Given the description of an element on the screen output the (x, y) to click on. 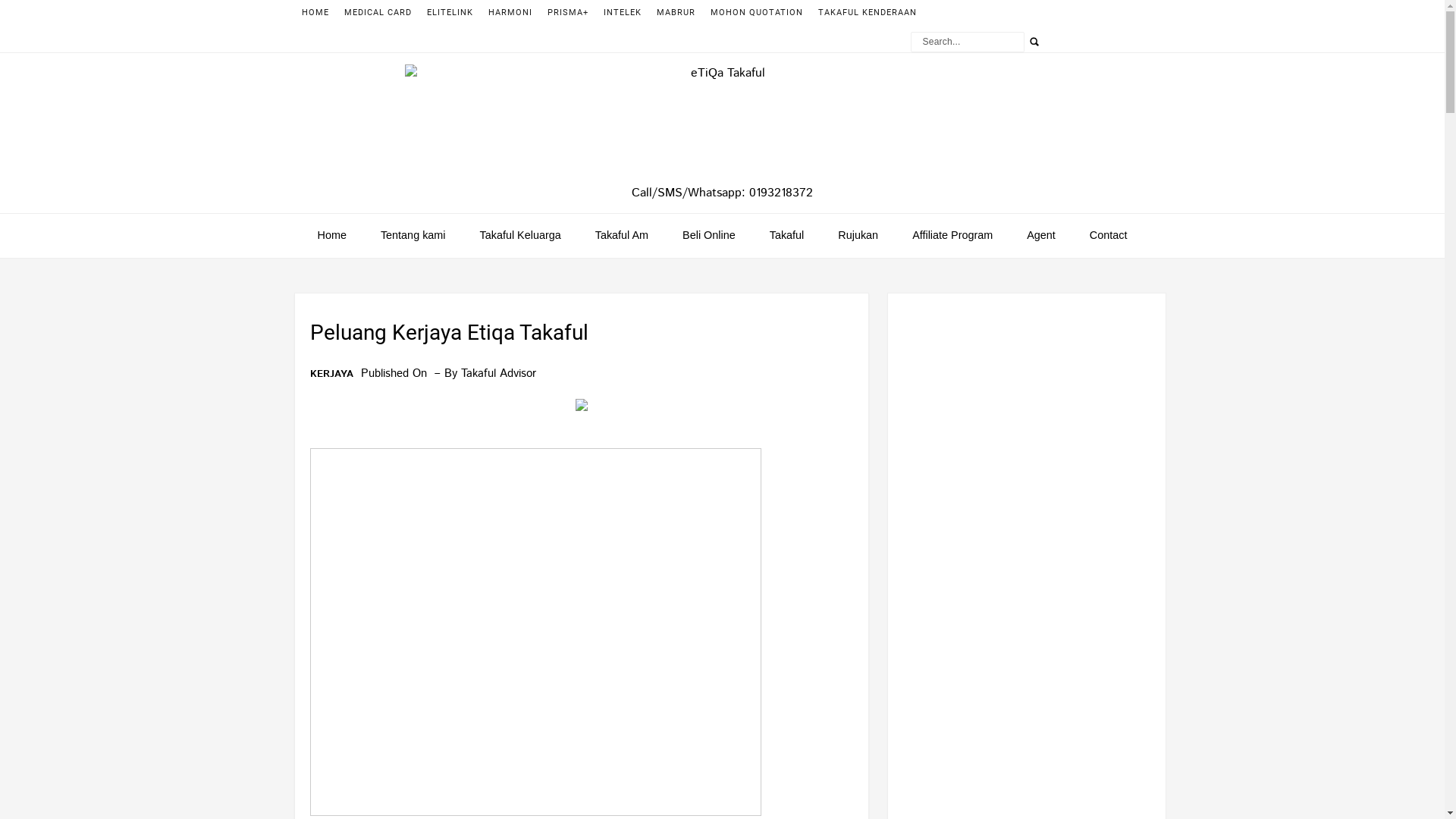
MOHON QUOTATION Element type: text (755, 12)
Contact Element type: text (1108, 234)
HOME Element type: text (315, 12)
Home Element type: text (331, 234)
KERJAYA Element type: text (330, 374)
Rujukan Element type: text (857, 234)
TAKAFUL KENDERAAN Element type: text (866, 12)
Takaful Am Element type: text (621, 234)
ELITELINK Element type: text (449, 12)
Tentang kami Element type: text (413, 234)
Beli Online Element type: text (708, 234)
INTELEK Element type: text (622, 12)
Affiliate Program Element type: text (952, 234)
MABRUR Element type: text (675, 12)
HARMONI Element type: text (509, 12)
Agent Element type: text (1040, 234)
Takaful Element type: text (786, 234)
Takaful Keluarga Element type: text (520, 234)
PRISMA+ Element type: text (567, 12)
MEDICAL CARD Element type: text (377, 12)
